Given the description of an element on the screen output the (x, y) to click on. 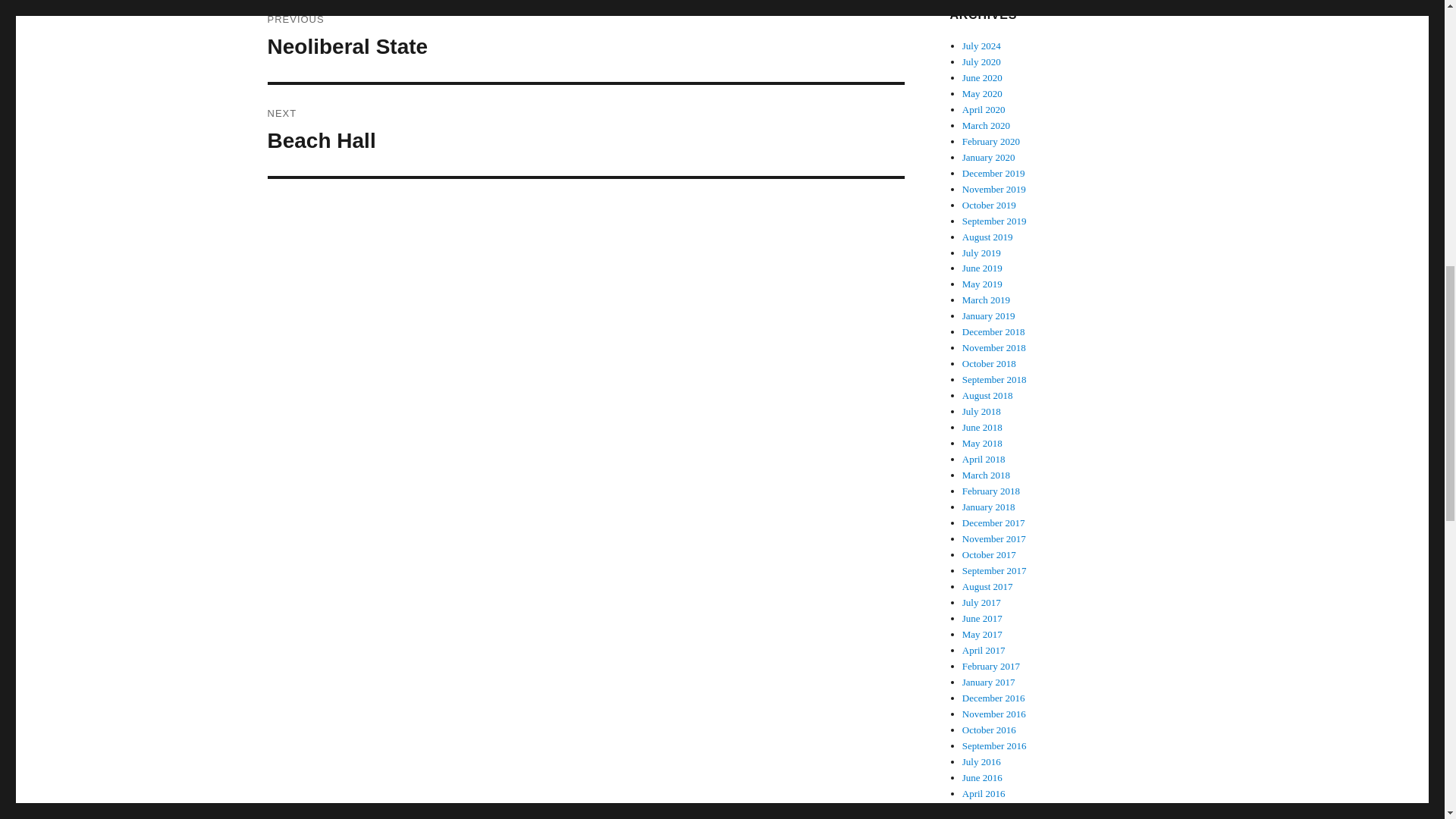
July 2020 (981, 61)
January 2020 (988, 156)
May 2019 (982, 283)
October 2019 (989, 204)
January 2019 (585, 130)
February 2020 (988, 315)
March 2020 (991, 141)
November 2018 (986, 125)
July 2024 (994, 347)
December 2019 (585, 40)
September 2019 (981, 45)
October 2018 (993, 173)
June 2018 (994, 220)
